Given the description of an element on the screen output the (x, y) to click on. 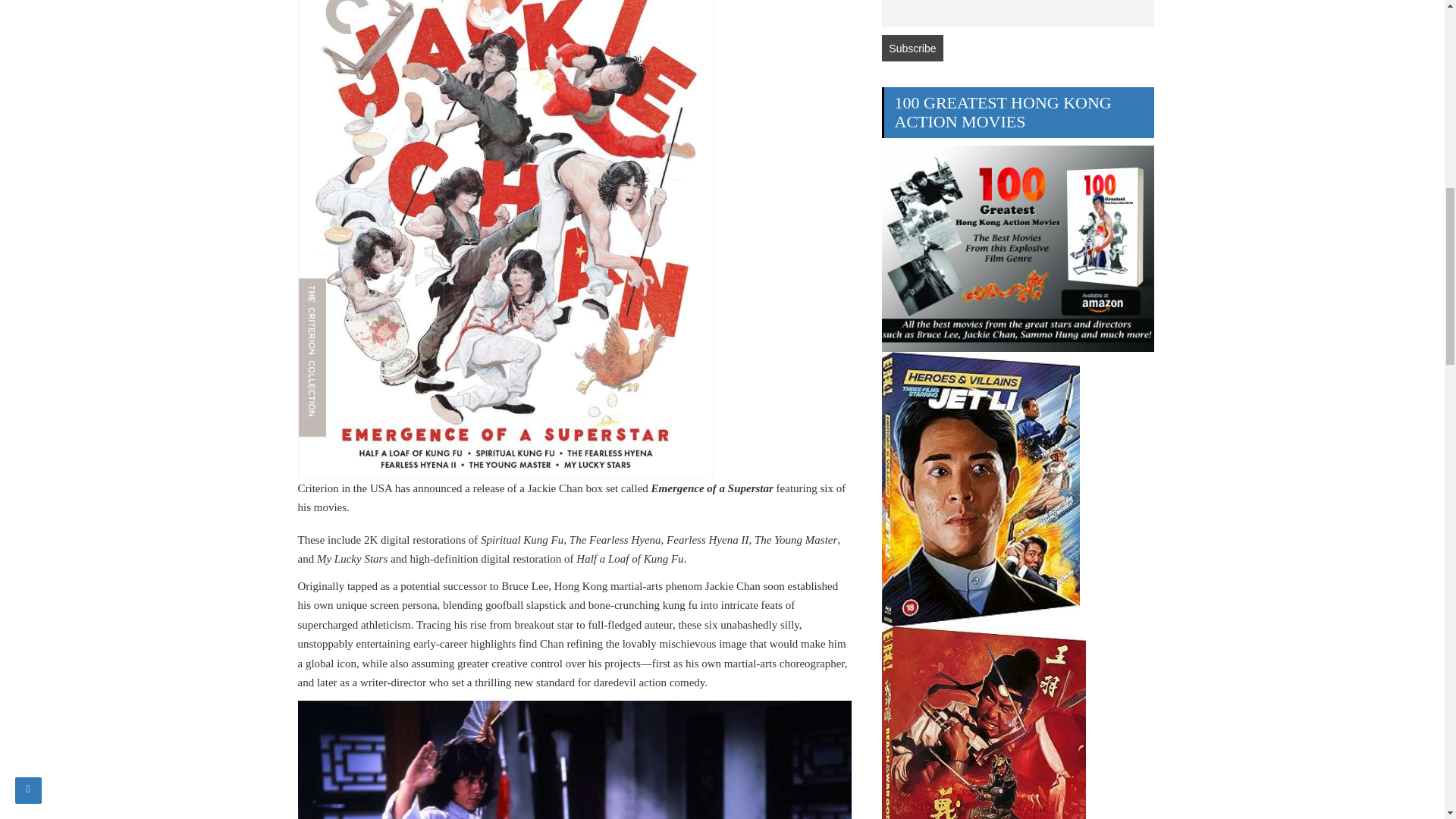
Subscribe (911, 48)
100 Greatest Hong Kong Action Movies (1017, 248)
Subscribe (911, 48)
